Given the description of an element on the screen output the (x, y) to click on. 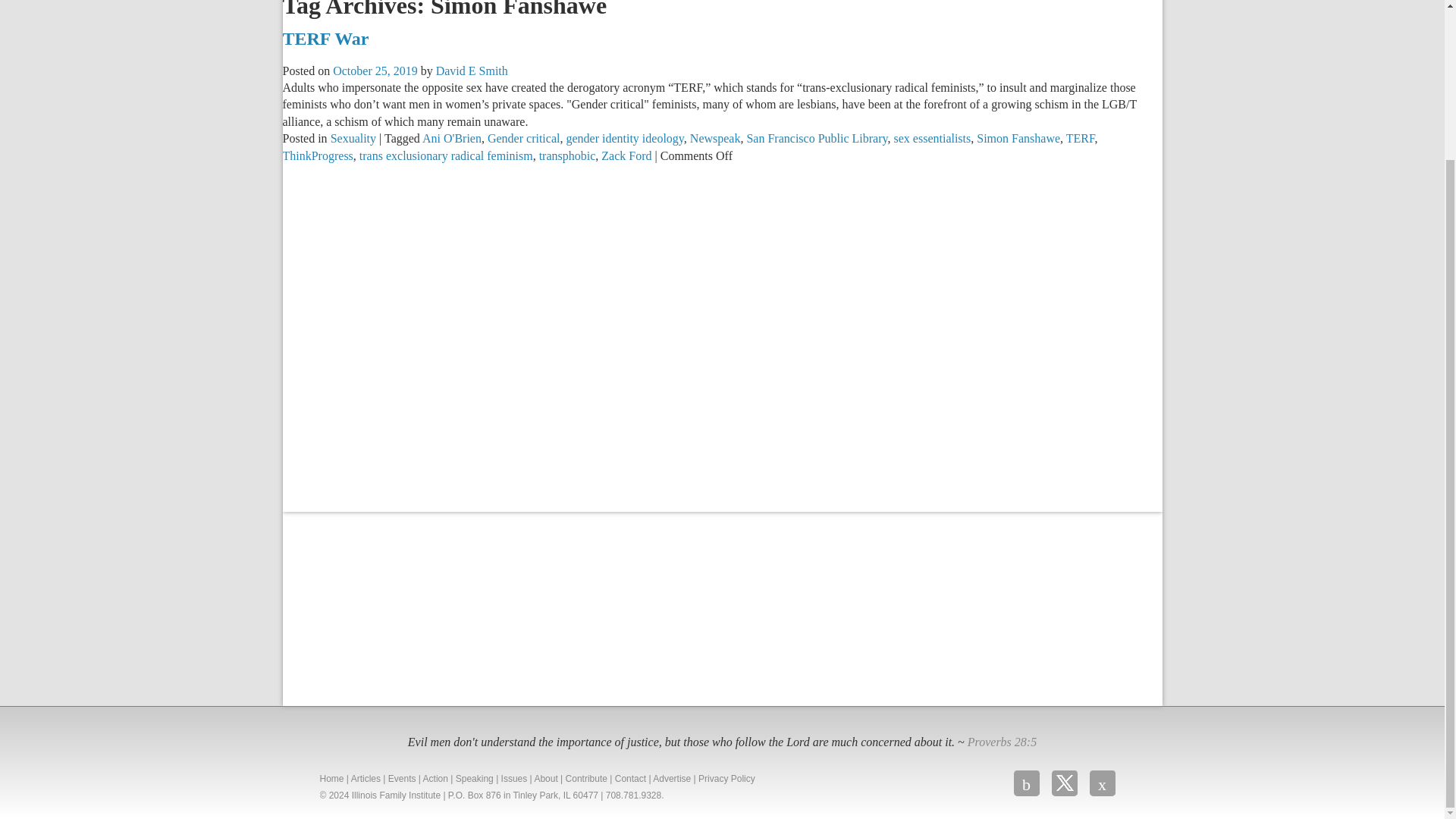
Ani O'Brien (451, 137)
Gender critical (523, 137)
4:00 AM (375, 70)
Advertisement (395, 606)
View all posts by David E Smith (471, 70)
TERF War (325, 38)
David E Smith (471, 70)
Permalink to TERF War (325, 38)
October 25, 2019 (375, 70)
Sexuality (352, 137)
